Given the description of an element on the screen output the (x, y) to click on. 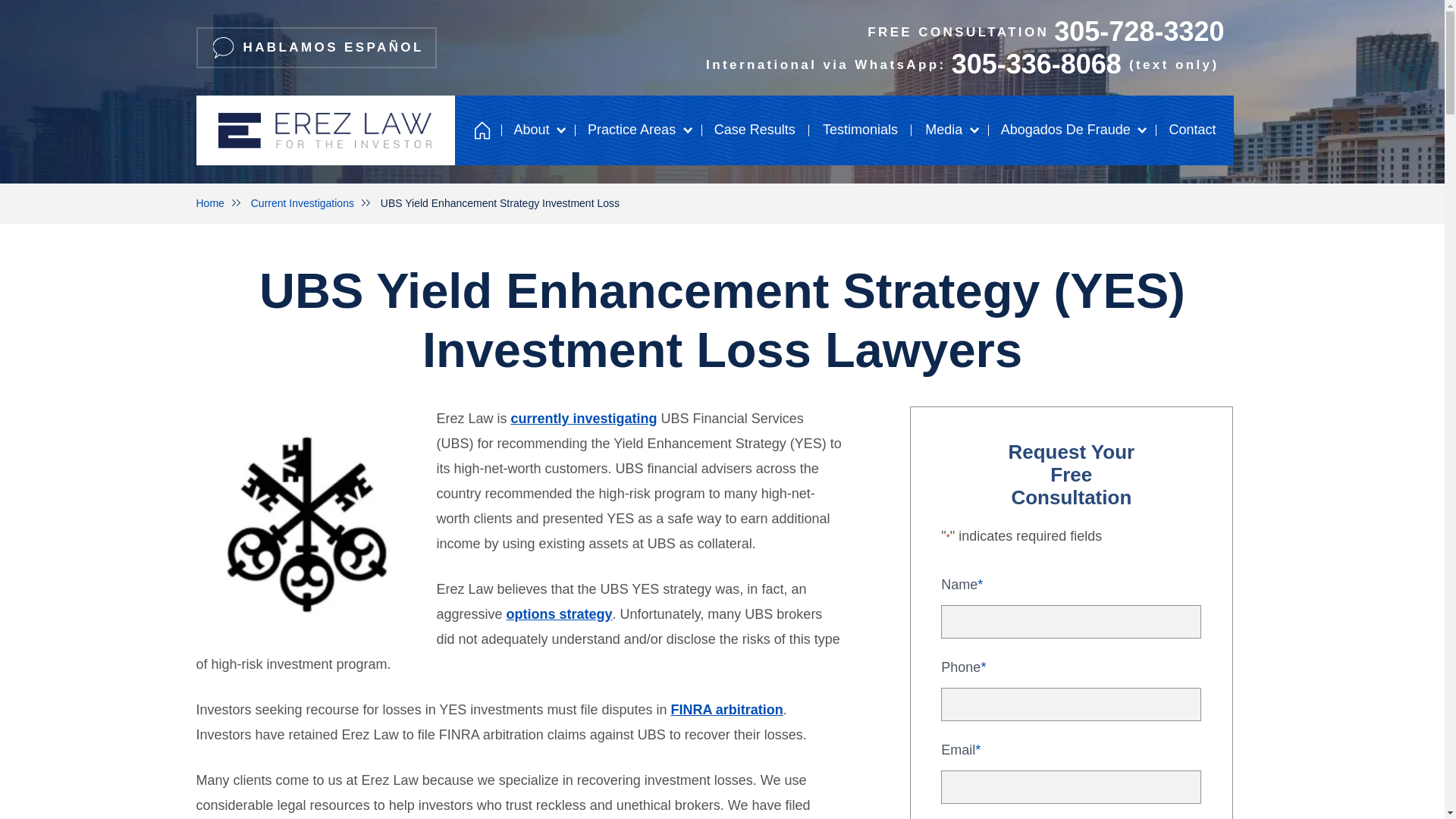
305-336-8068 (844, 31)
Practice Areas (1036, 63)
